Given the description of an element on the screen output the (x, y) to click on. 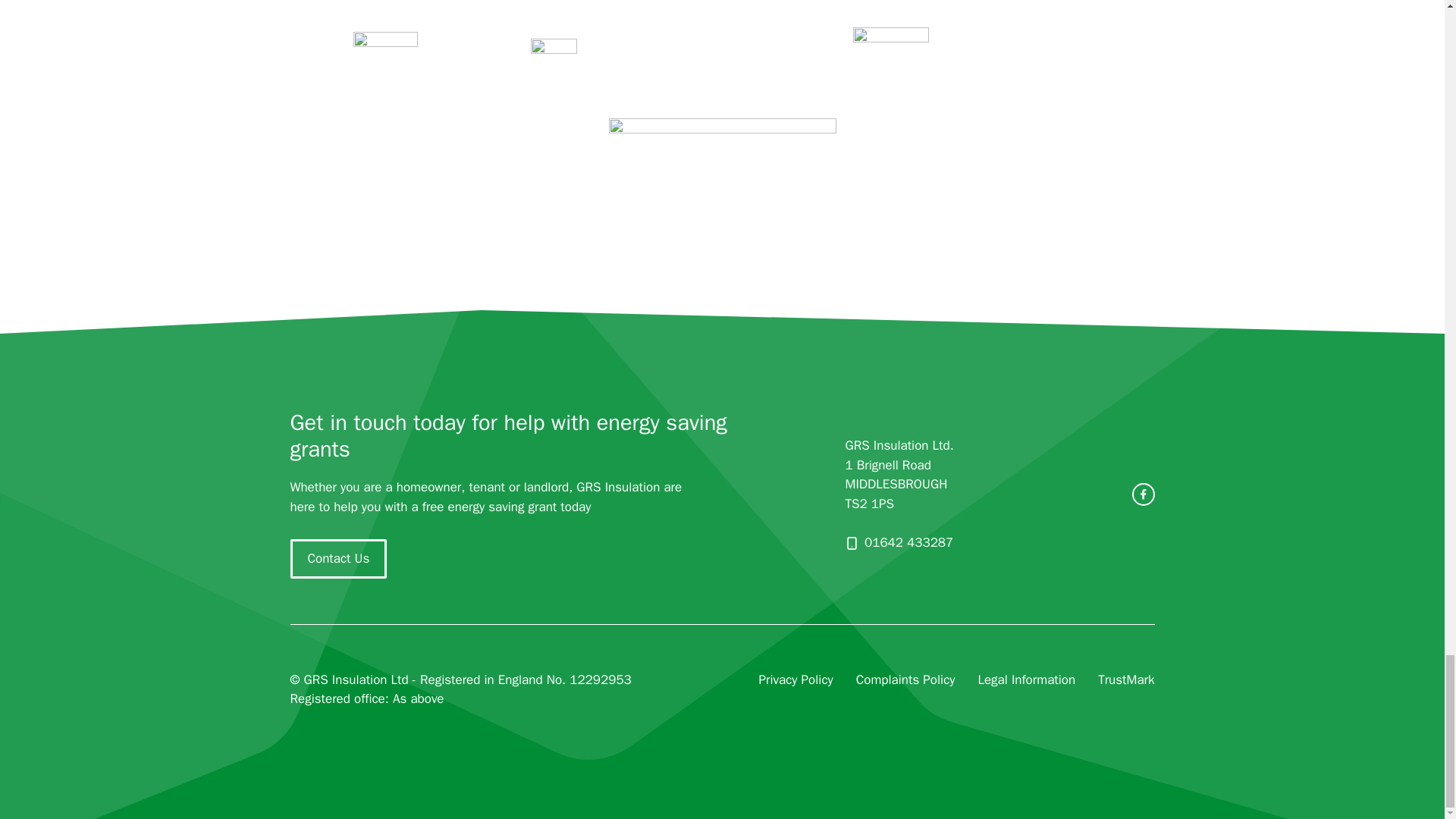
TrustMark (1125, 680)
Privacy Policy (795, 680)
Legal Information (1025, 680)
Complaints Policy (905, 680)
Qualitymark Protection Accredited (1141, 51)
Contact Us (338, 558)
01642 433287 (908, 542)
